Given the description of an element on the screen output the (x, y) to click on. 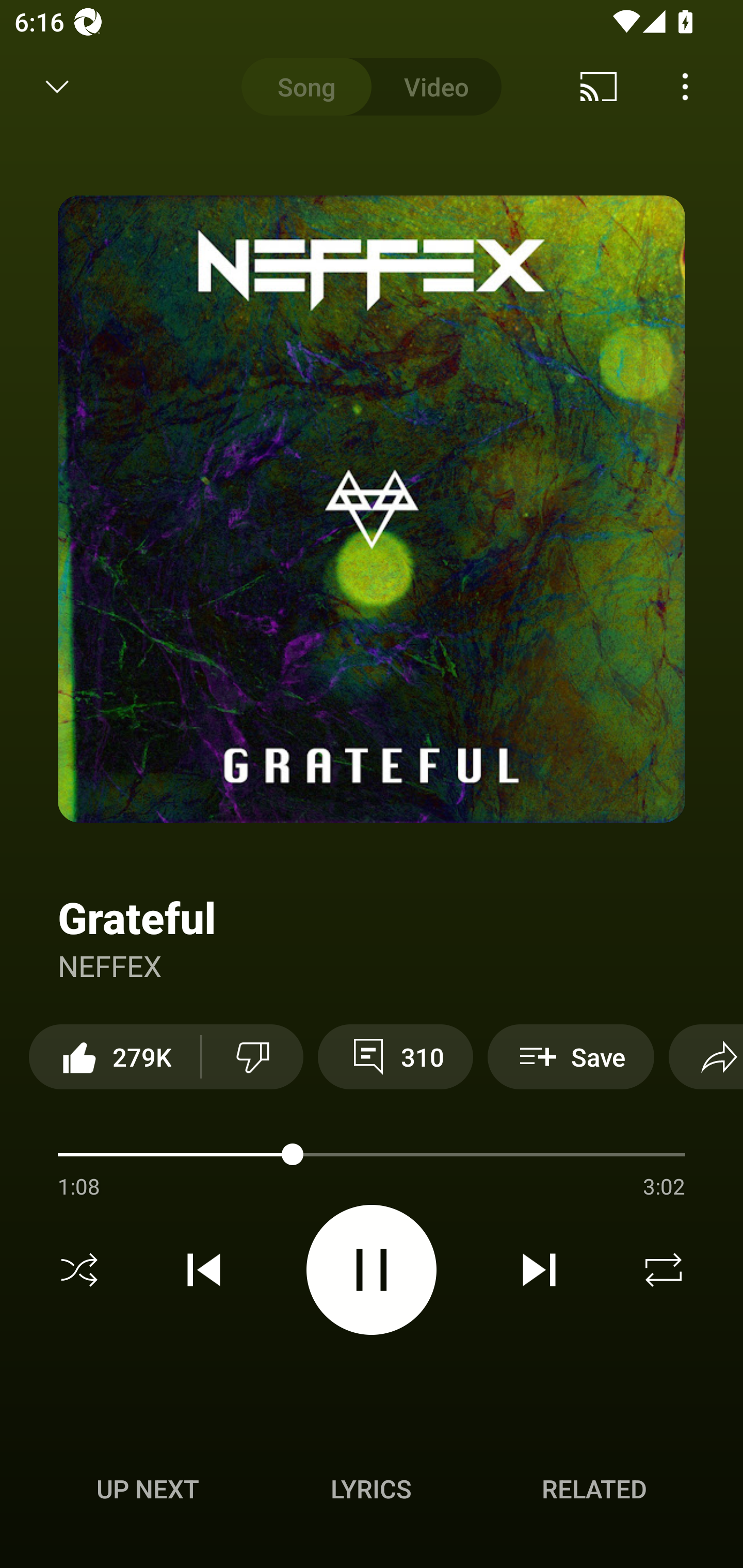
Minimize (57, 86)
Cast. Disconnected (598, 86)
Menu (684, 86)
Dislike (252, 1056)
310 View 310 comments (395, 1056)
Save Save to playlist (570, 1056)
Share (705, 1056)
Pause video (371, 1269)
Shuffle off (79, 1269)
Previous track (203, 1269)
Next track (538, 1269)
Repeat off (663, 1269)
Up next UP NEXT Lyrics LYRICS Related RELATED (371, 1491)
Lyrics LYRICS (370, 1488)
Related RELATED (594, 1488)
